Given the description of an element on the screen output the (x, y) to click on. 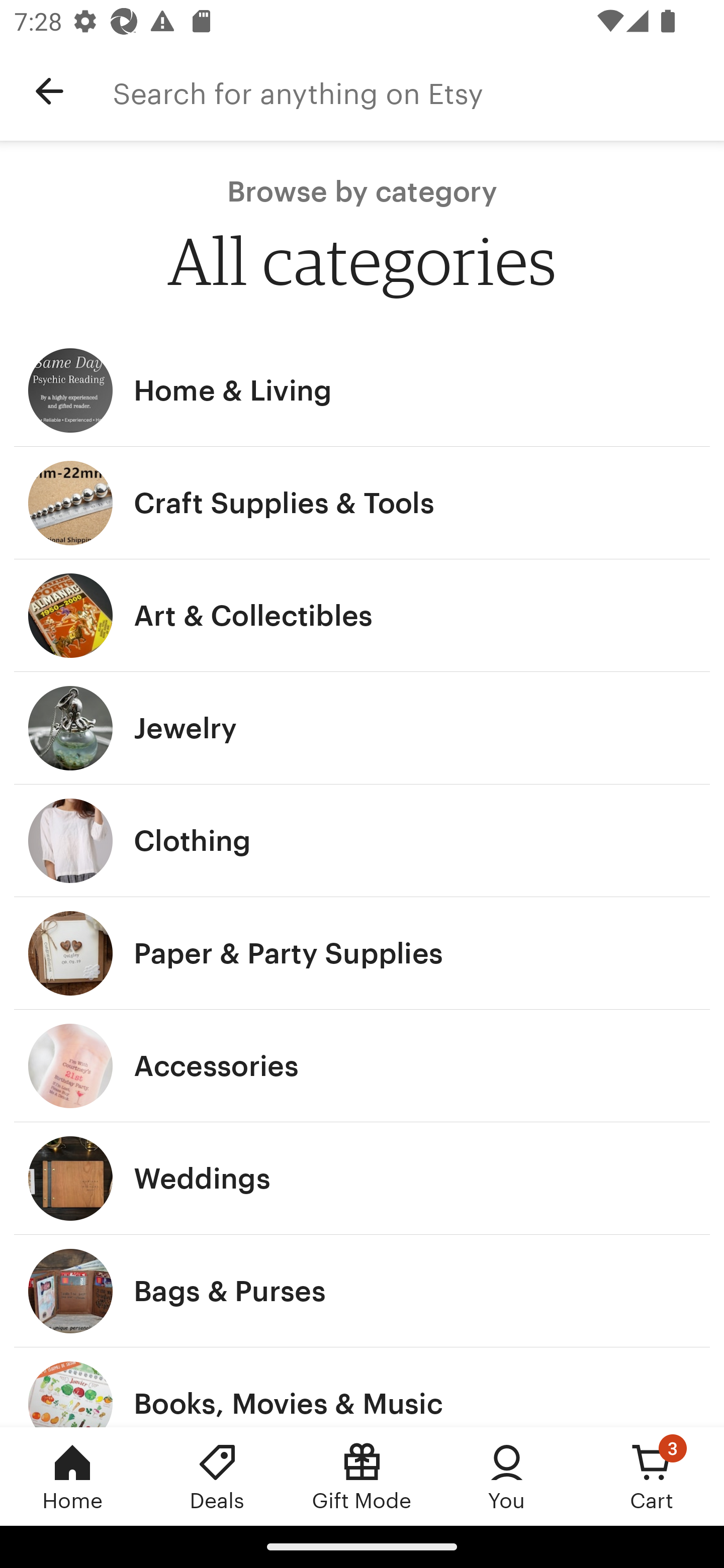
Navigate up (49, 91)
Search for anything on Etsy (418, 91)
Home & Living (361, 389)
Craft Supplies & Tools (361, 502)
Art & Collectibles (361, 615)
Jewelry (361, 728)
Clothing (361, 840)
Paper & Party Supplies (361, 952)
Accessories (361, 1065)
Weddings (361, 1178)
Bags & Purses (361, 1290)
Books, Movies & Music (361, 1386)
Deals (216, 1475)
Gift Mode (361, 1475)
You (506, 1475)
Cart, 3 new notifications Cart (651, 1475)
